Given the description of an element on the screen output the (x, y) to click on. 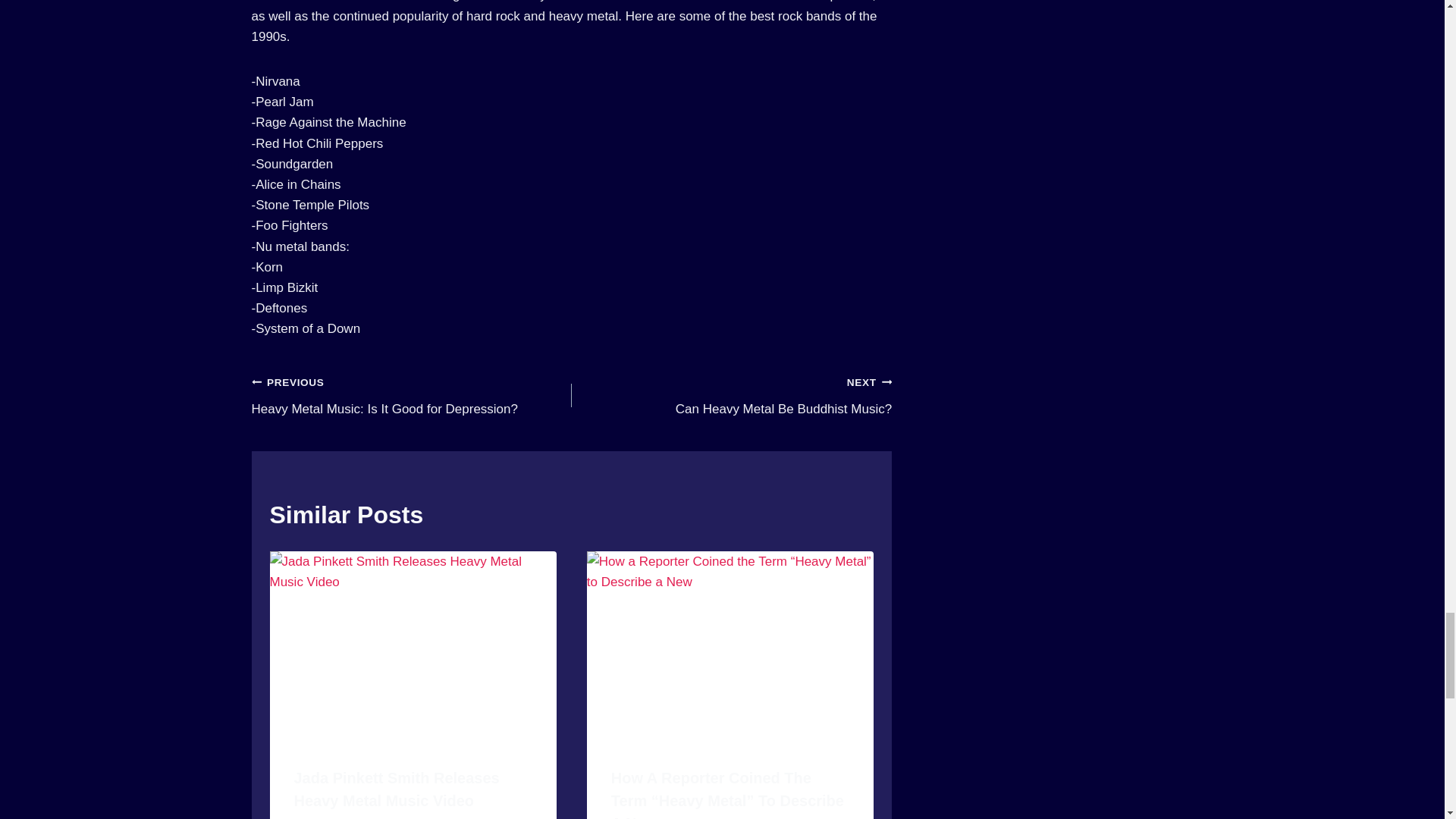
Jada Pinkett Smith Releases Heavy Metal Music Video (396, 789)
